Given the description of an element on the screen output the (x, y) to click on. 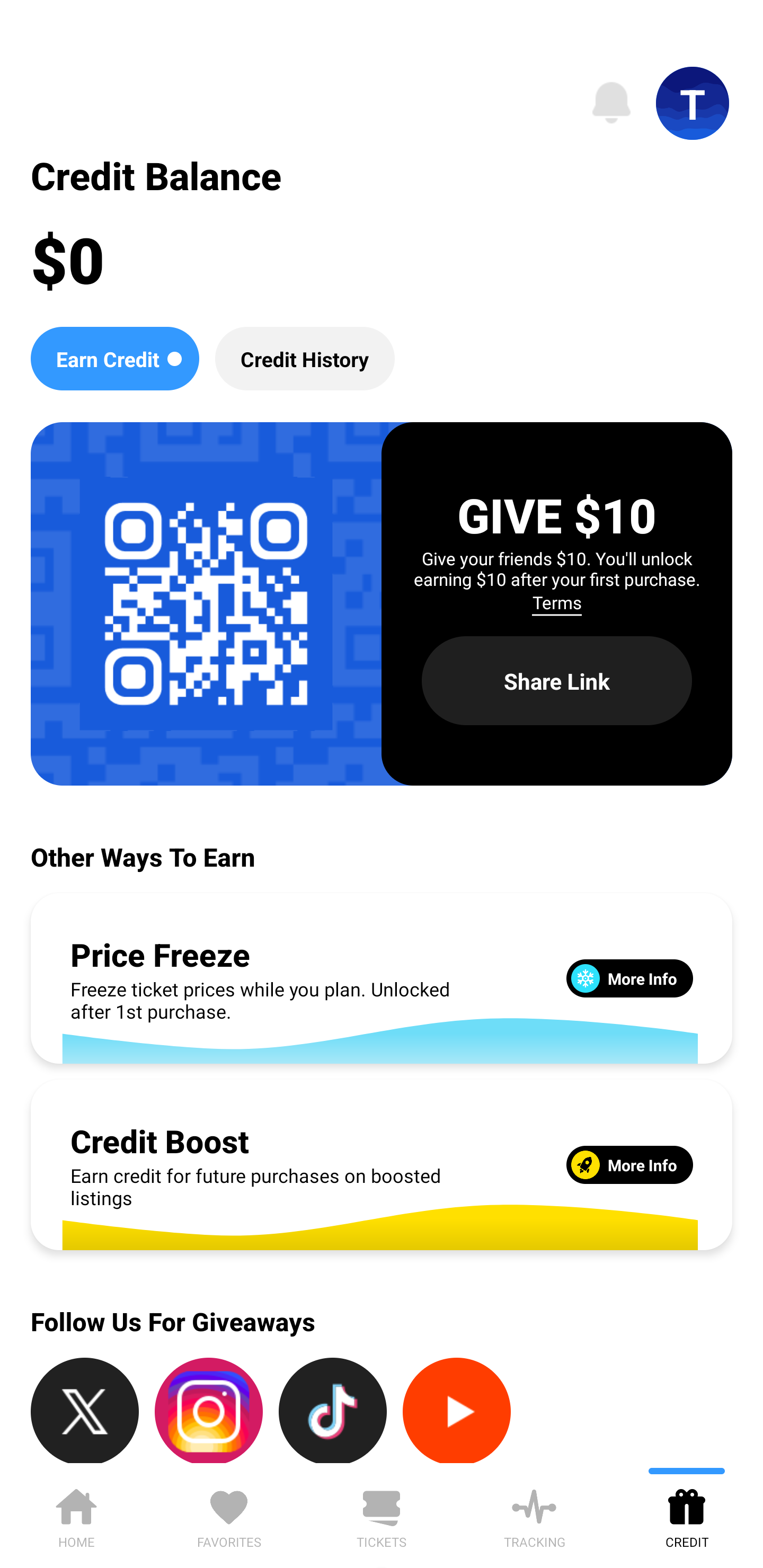
T (692, 103)
Earn Credit (114, 358)
Credit History (304, 358)
Share Link (556, 680)
More Info (629, 978)
More Info (629, 1164)
X (84, 1409)
Instagram (208, 1409)
TikTok (332, 1409)
YouTube (456, 1409)
HOME (76, 1515)
FAVORITES (228, 1515)
TICKETS (381, 1515)
TRACKING (533, 1515)
CREDIT (686, 1515)
